Given the description of an element on the screen output the (x, y) to click on. 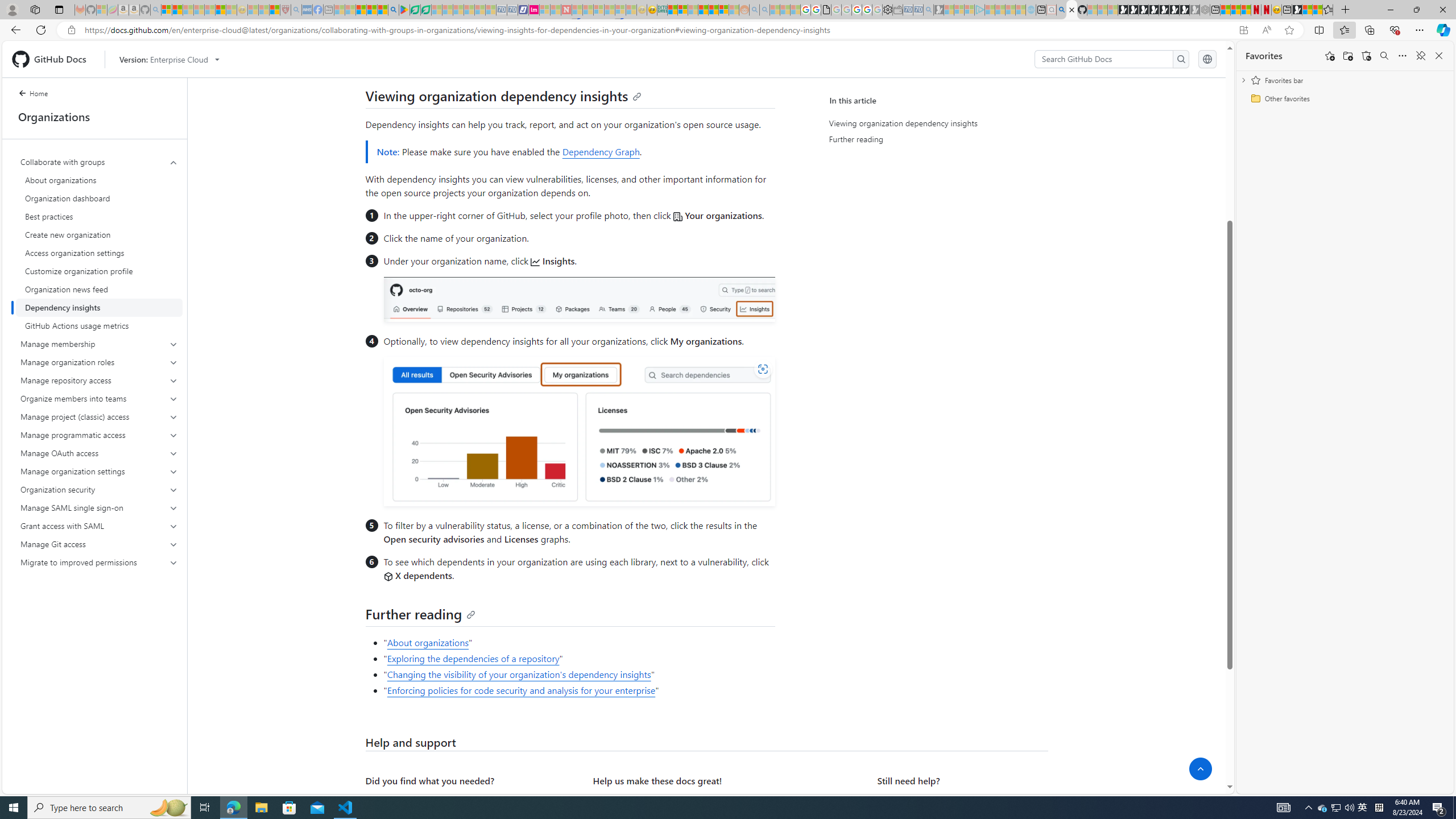
Organization news feed (99, 289)
Best practices (99, 216)
Viewing organization dependency insights (933, 123)
Collaborate with groups (99, 243)
About organizations (99, 180)
Organizations (94, 116)
